Given the description of an element on the screen output the (x, y) to click on. 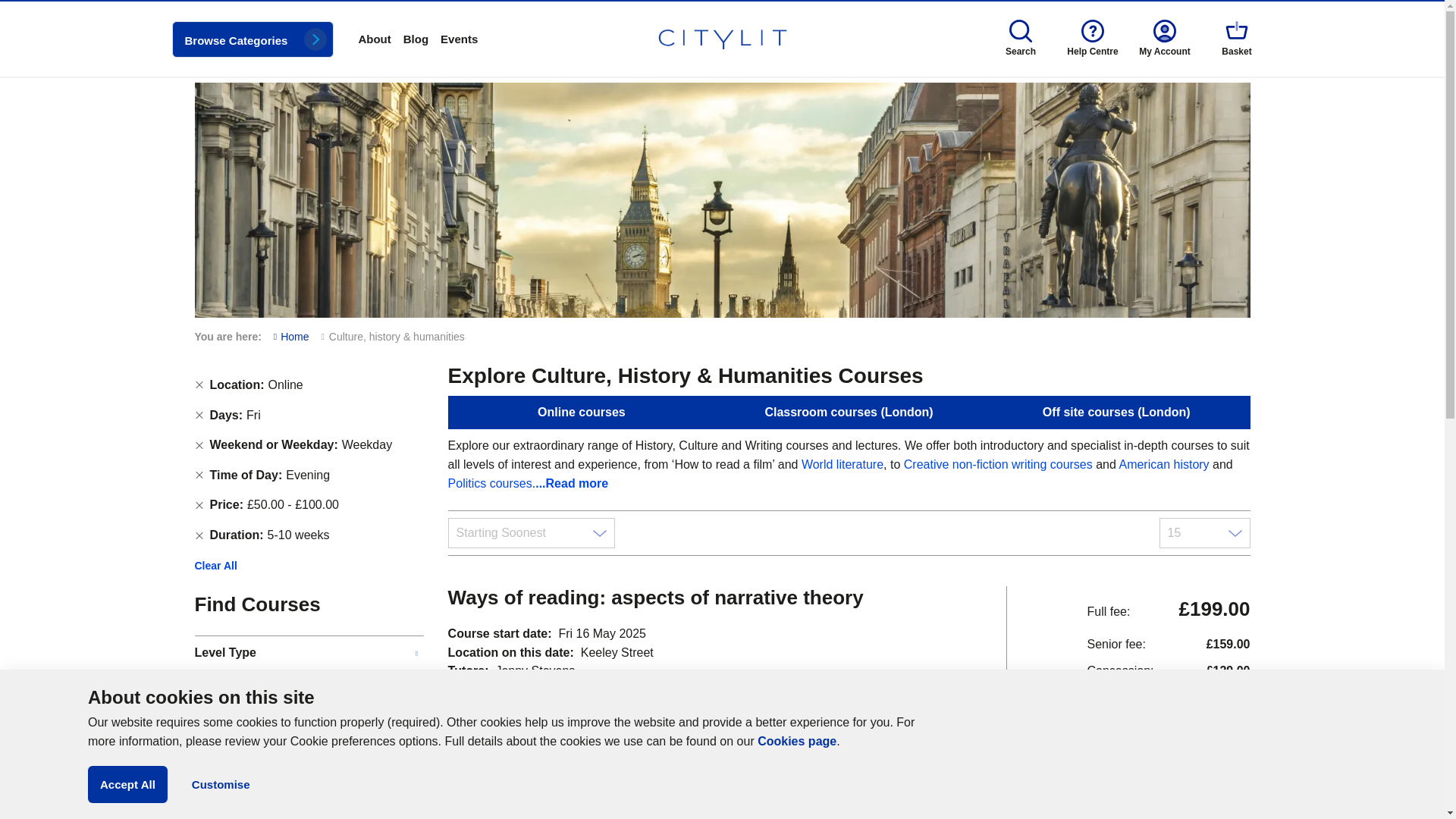
Remove Weekend or Weekday Weekday (198, 444)
Events (459, 38)
Literature courses (842, 463)
My Account (1163, 38)
Blog (415, 38)
Remove Time of Day Evening (198, 474)
Go to Home Page (290, 337)
Help Centre (1093, 38)
Politics and economics courses (490, 482)
creative non-fiction writing courses (998, 463)
Browse Categories (252, 39)
Search (8, 9)
American history courses (1163, 463)
Remove Location Online (198, 384)
Remove Days Fri (198, 415)
